Given the description of an element on the screen output the (x, y) to click on. 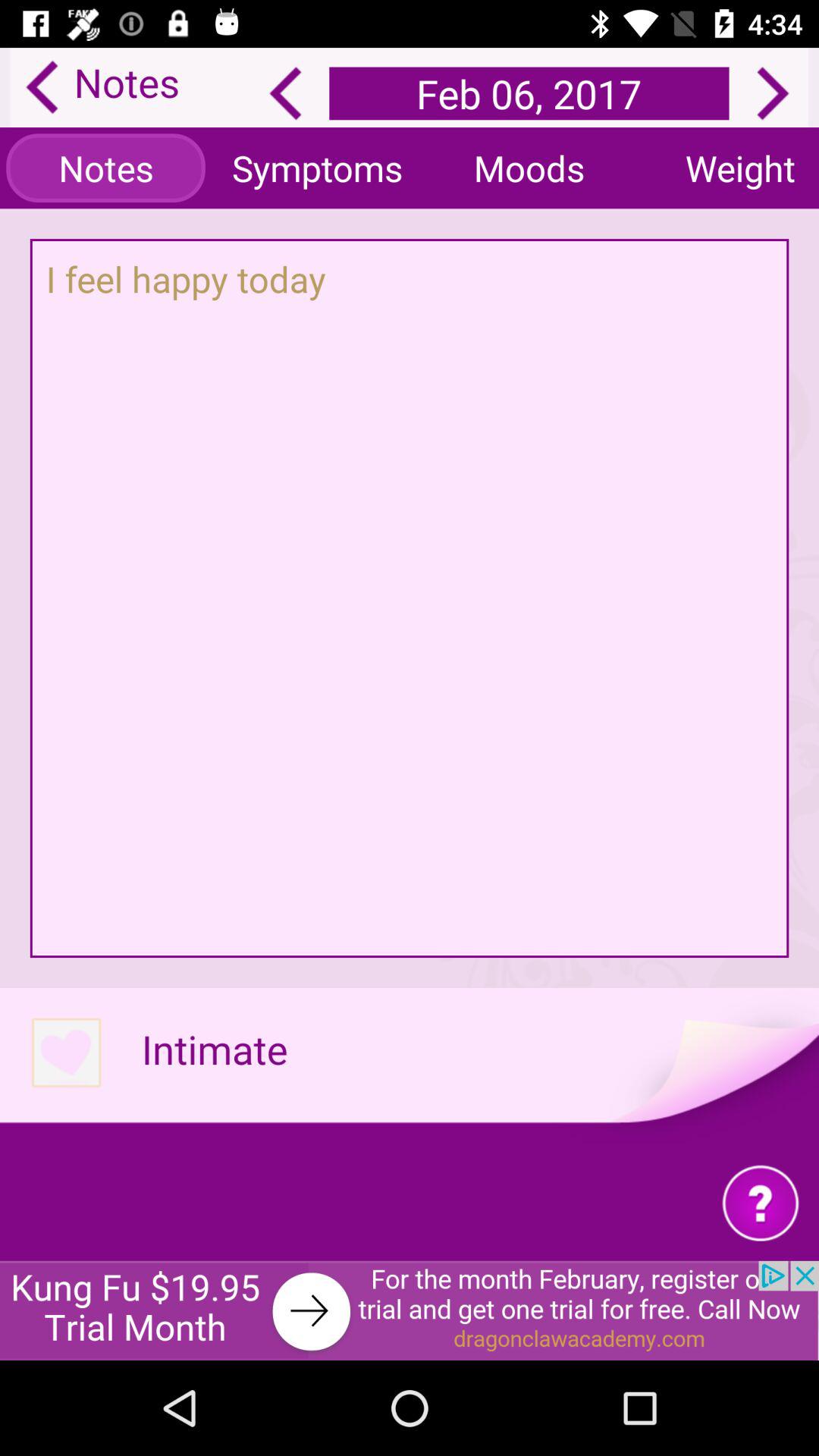
advertising bar (409, 1310)
